Given the description of an element on the screen output the (x, y) to click on. 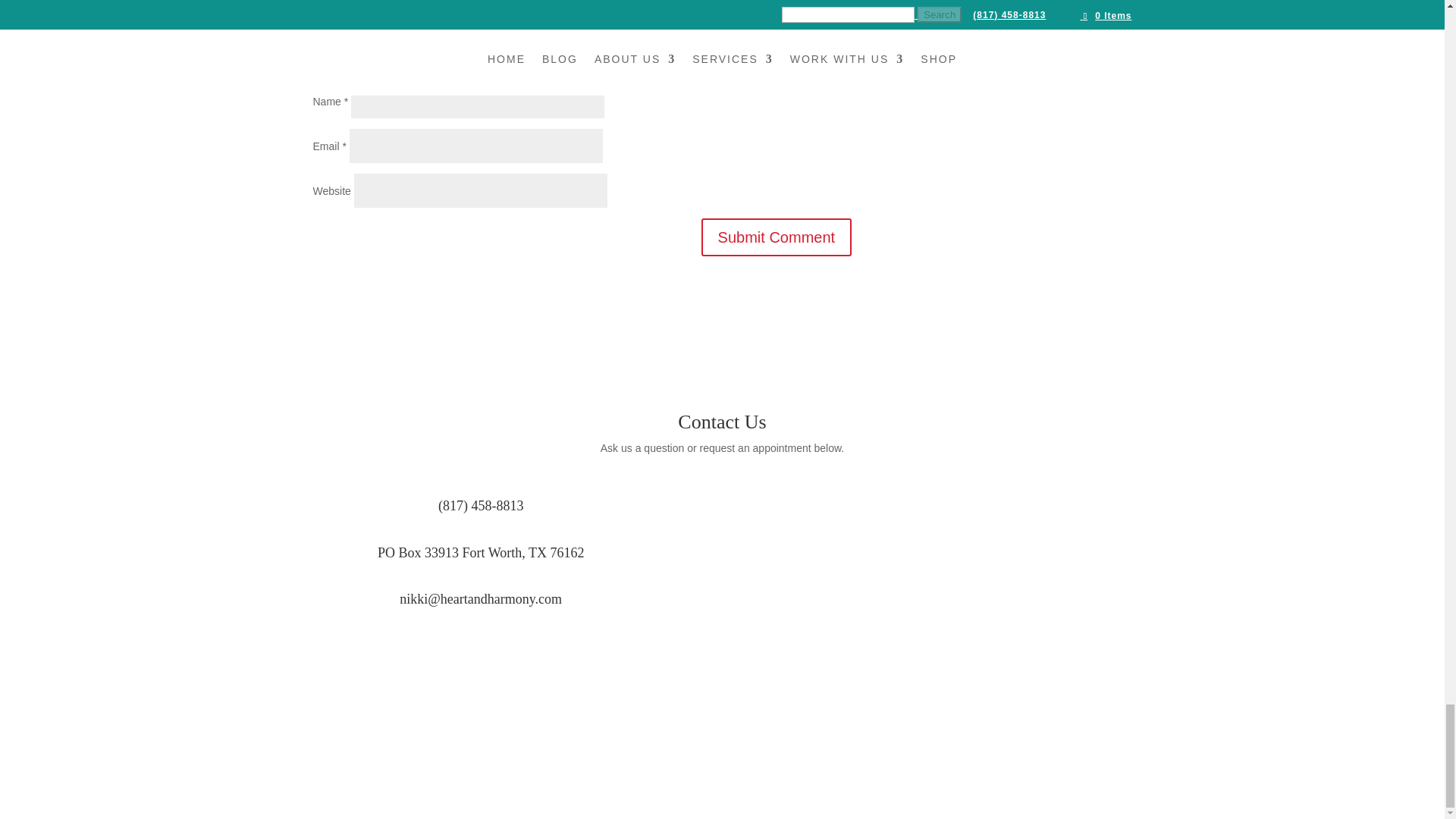
Submit Comment (776, 237)
